Given the description of an element on the screen output the (x, y) to click on. 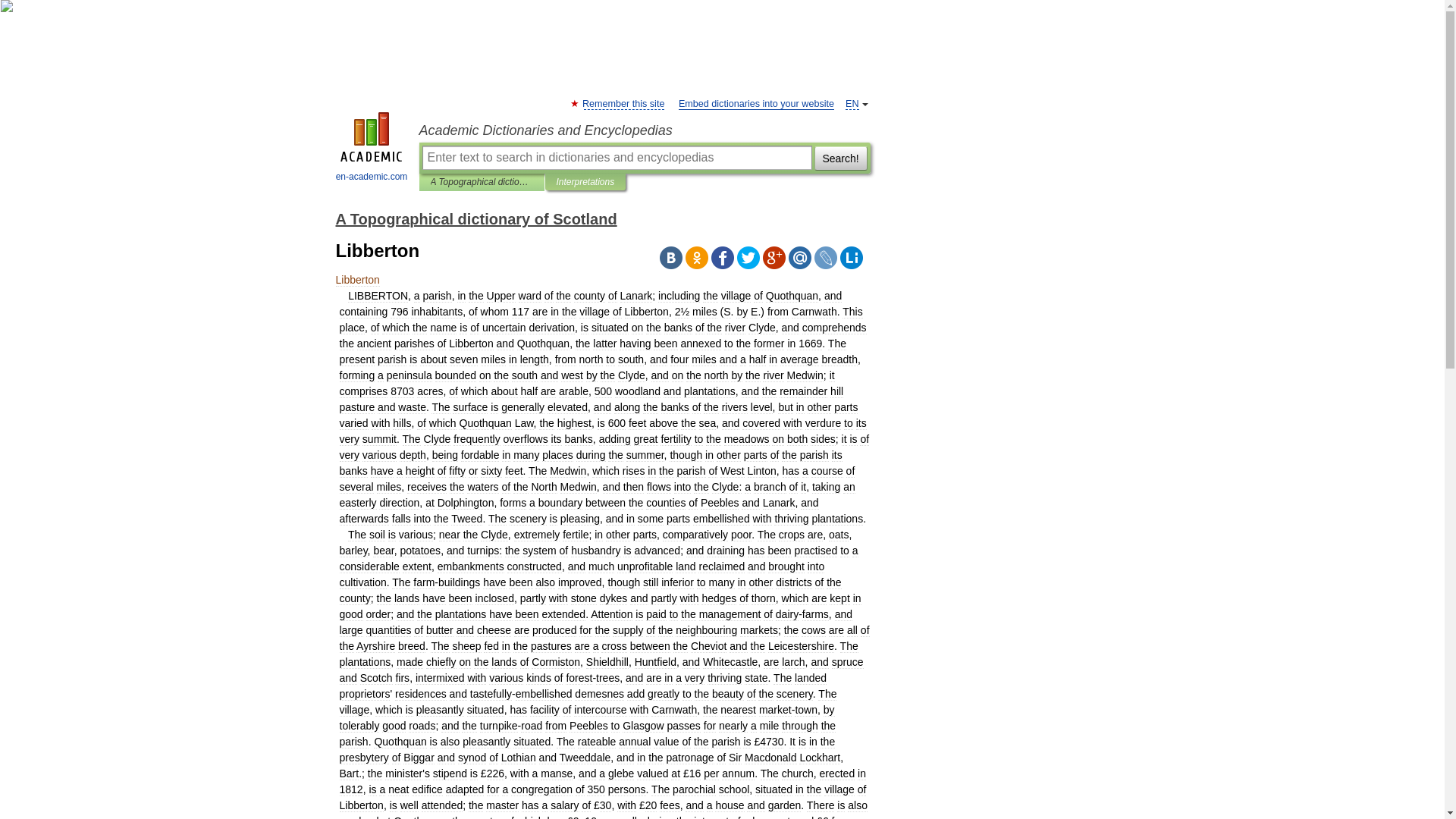
A Topographical dictionary of Scotland (474, 218)
EN (852, 103)
Enter text to search in dictionaries and encyclopedias (616, 157)
Remember this site (623, 103)
Search! (840, 157)
Embed dictionaries into your website (756, 103)
Academic Dictionaries and Encyclopedias (644, 130)
A Topographical dictionary of Scotland (481, 181)
en-academic.com (371, 148)
Interpretations (585, 181)
